Given the description of an element on the screen output the (x, y) to click on. 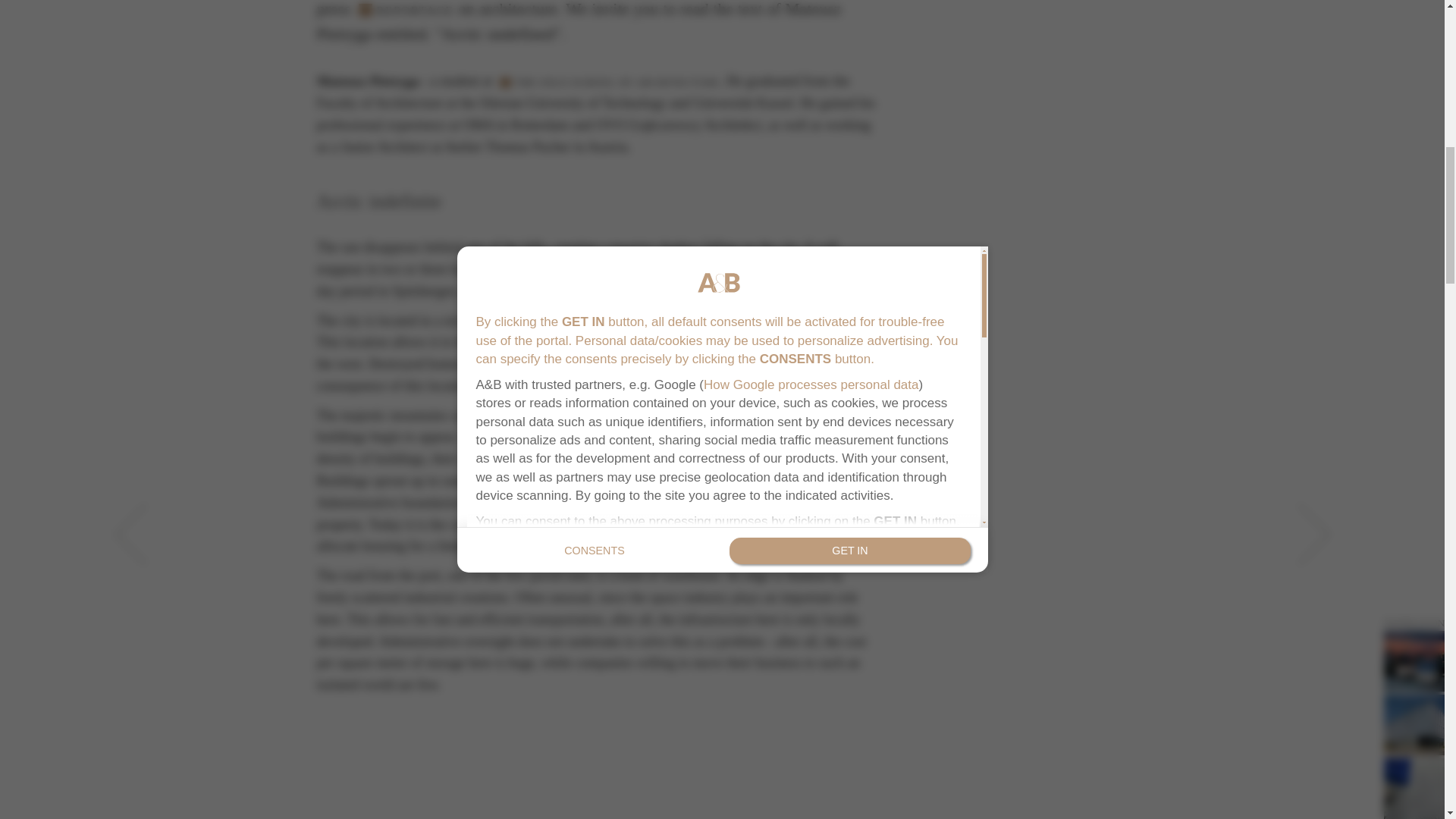
podcast (609, 81)
